Given the description of an element on the screen output the (x, y) to click on. 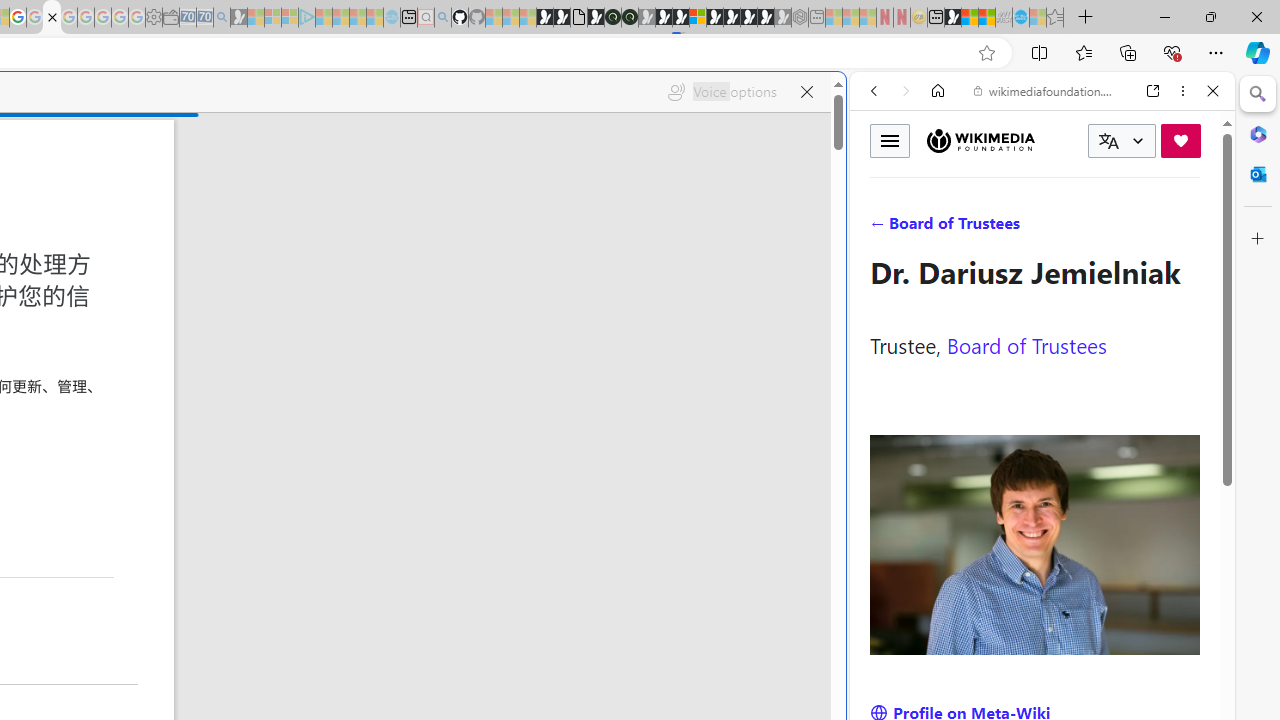
Wikimedia Foundation (980, 141)
